Given the description of an element on the screen output the (x, y) to click on. 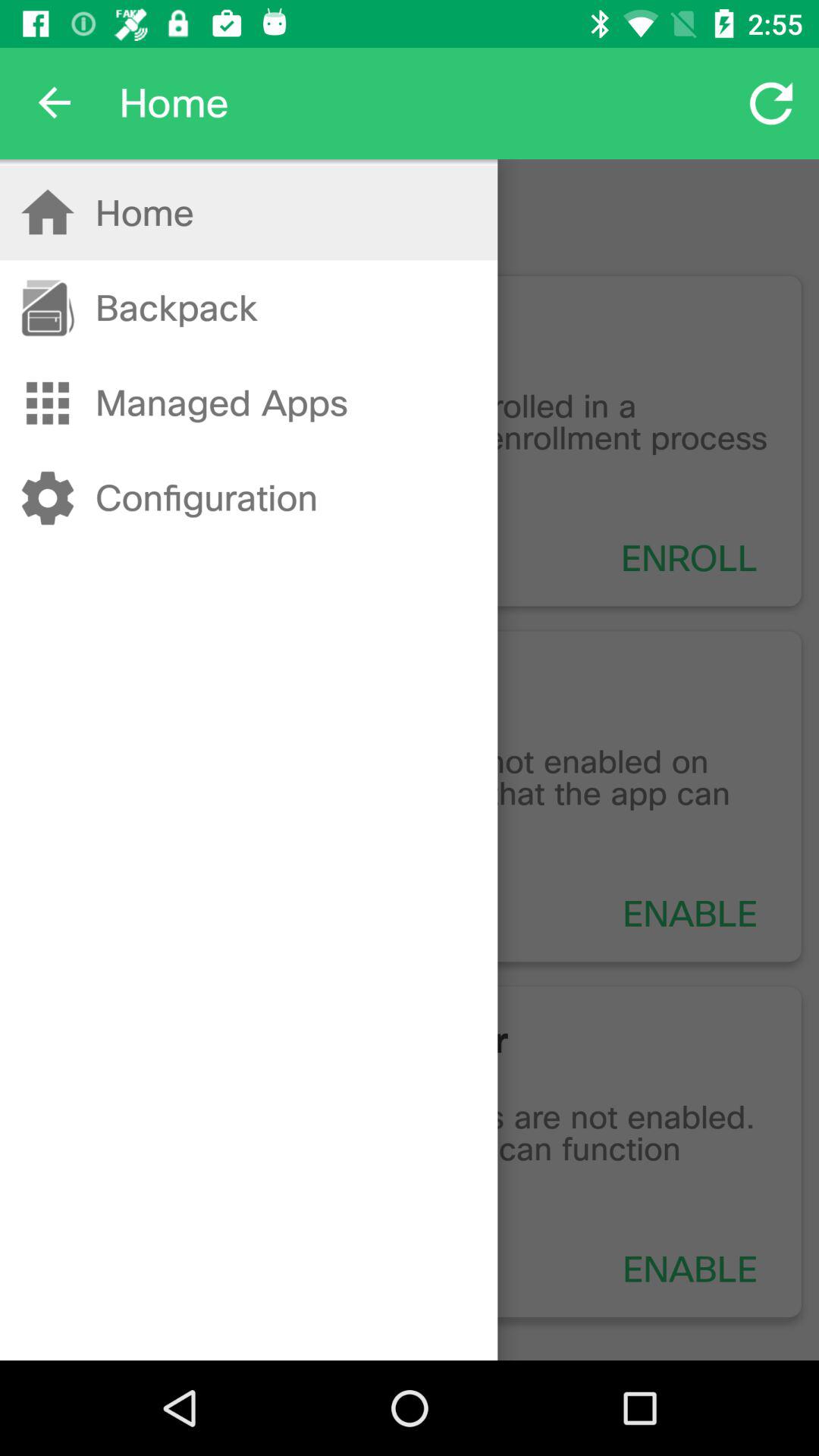
click on the refresh button which is to the right of text home (771, 103)
